Given the description of an element on the screen output the (x, y) to click on. 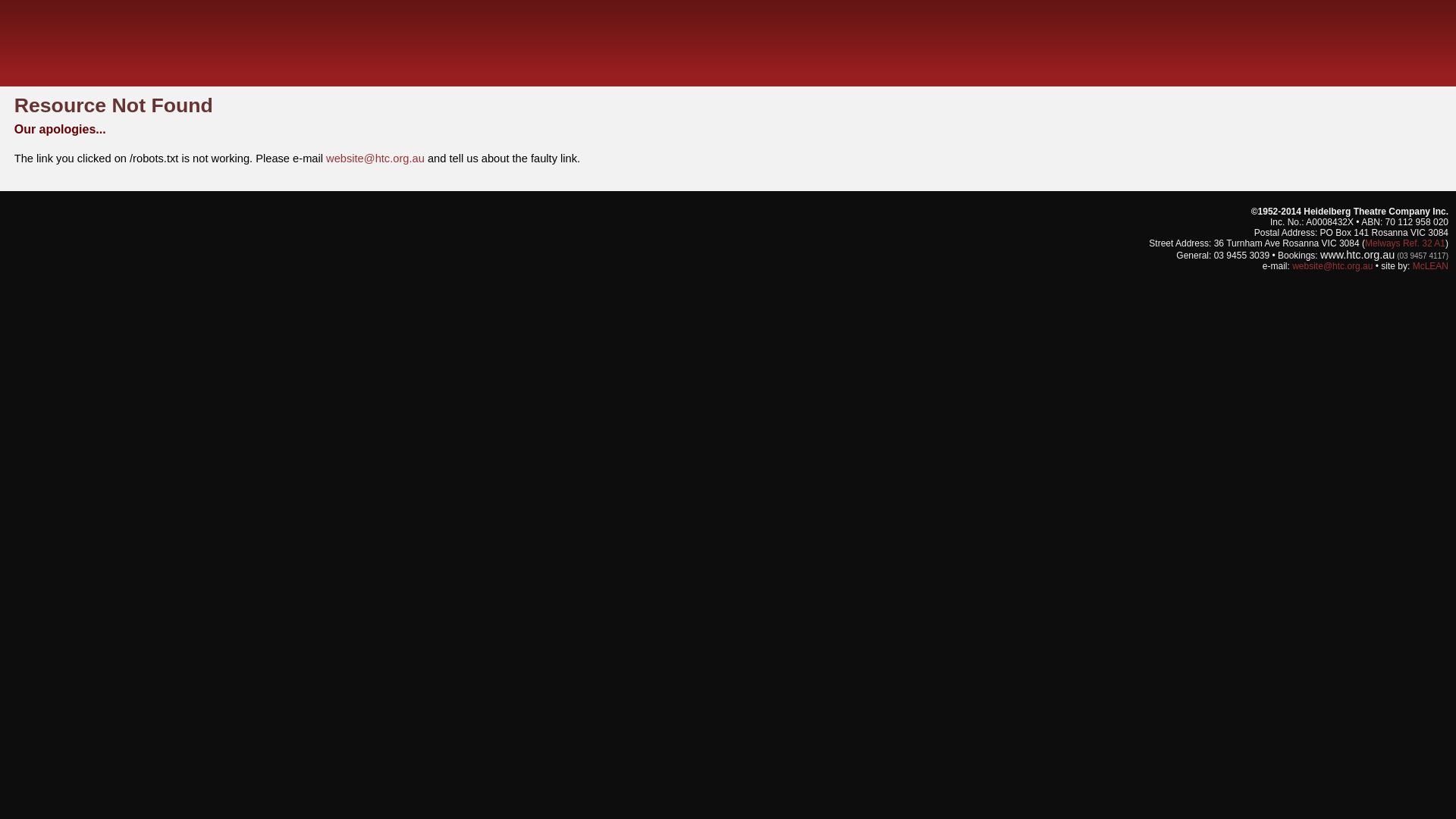
website@htc.org.au Element type: text (1332, 265)
website@htc.org.au Element type: text (375, 158)
Melways Ref. 32 A1 Element type: text (1405, 243)
McLEAN Element type: text (1430, 265)
www.htc.org.au Element type: text (1357, 254)
